Given the description of an element on the screen output the (x, y) to click on. 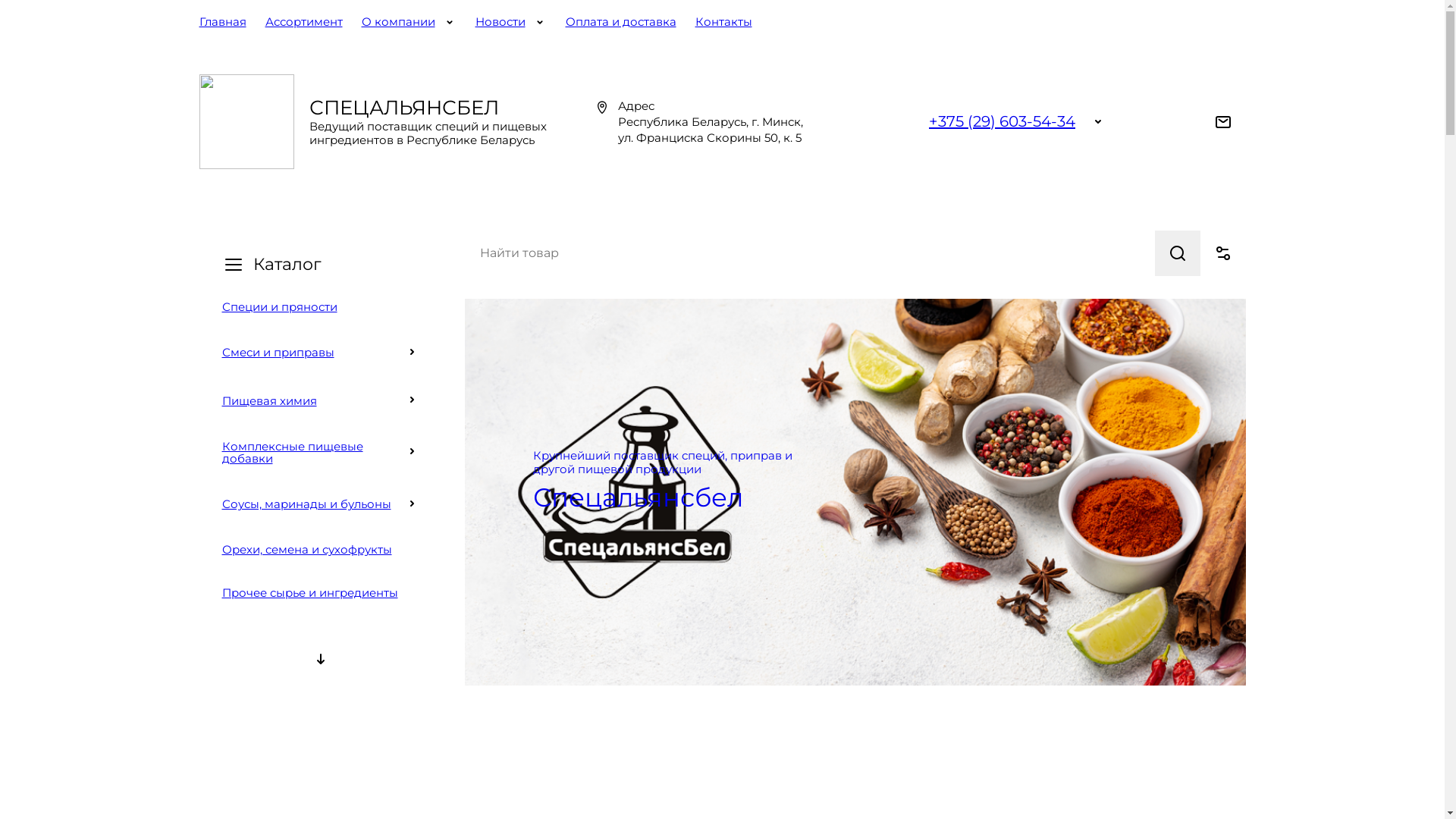
+375 (29) 603-54-34 Element type: text (1001, 121)
Viber Element type: hover (906, 120)
